Given the description of an element on the screen output the (x, y) to click on. 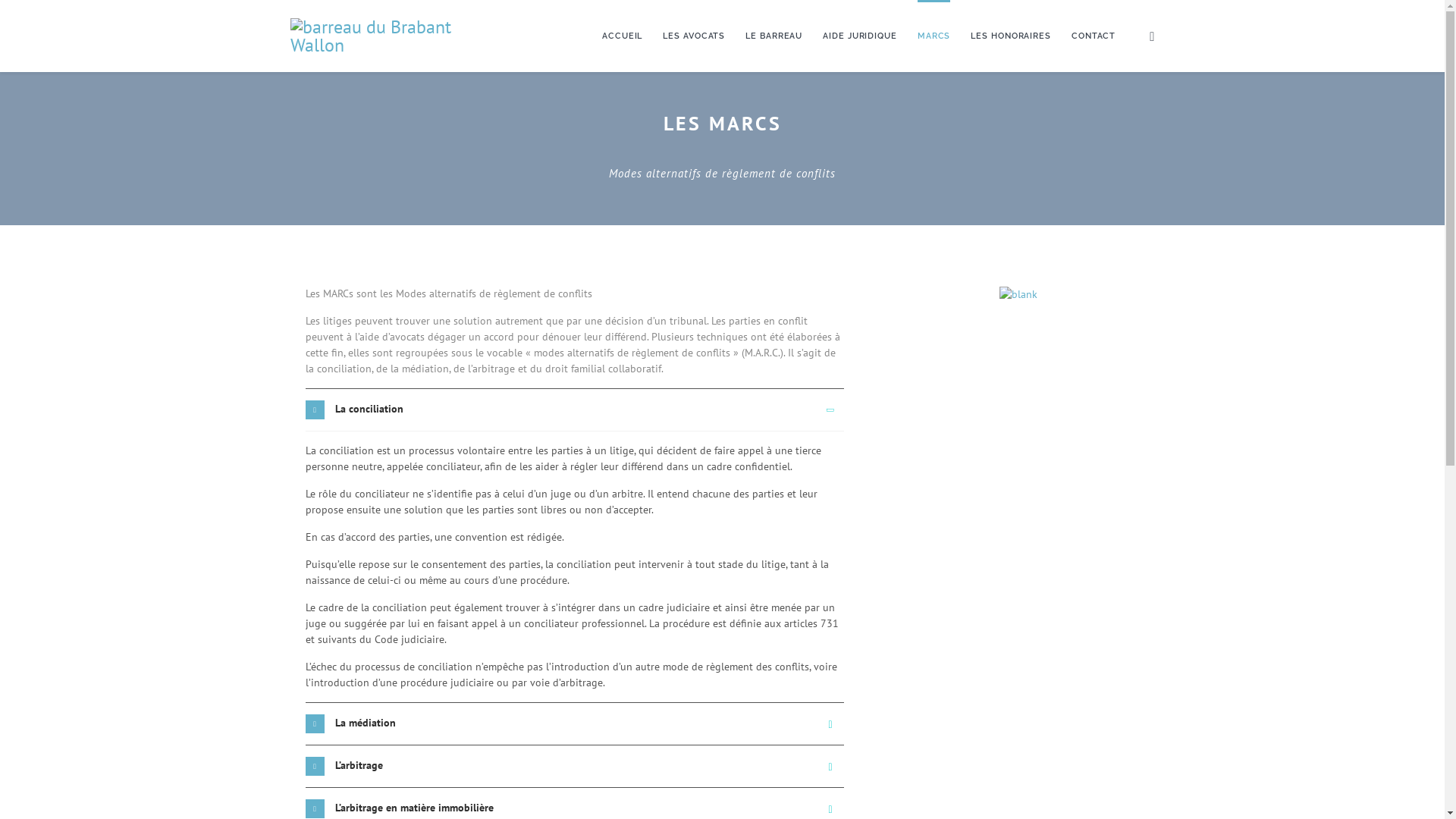
AIDE JURIDIQUE Element type: text (859, 36)
LES HONORAIRES Element type: text (1010, 36)
LE BARREAU Element type: text (773, 36)
MARCS Element type: text (933, 36)
LES AVOCATS Element type: text (693, 36)
CONTACT Element type: text (1093, 36)
Helix Megamenu Options Element type: hover (1151, 36)
ACCUEIL Element type: text (622, 36)
